Given the description of an element on the screen output the (x, y) to click on. 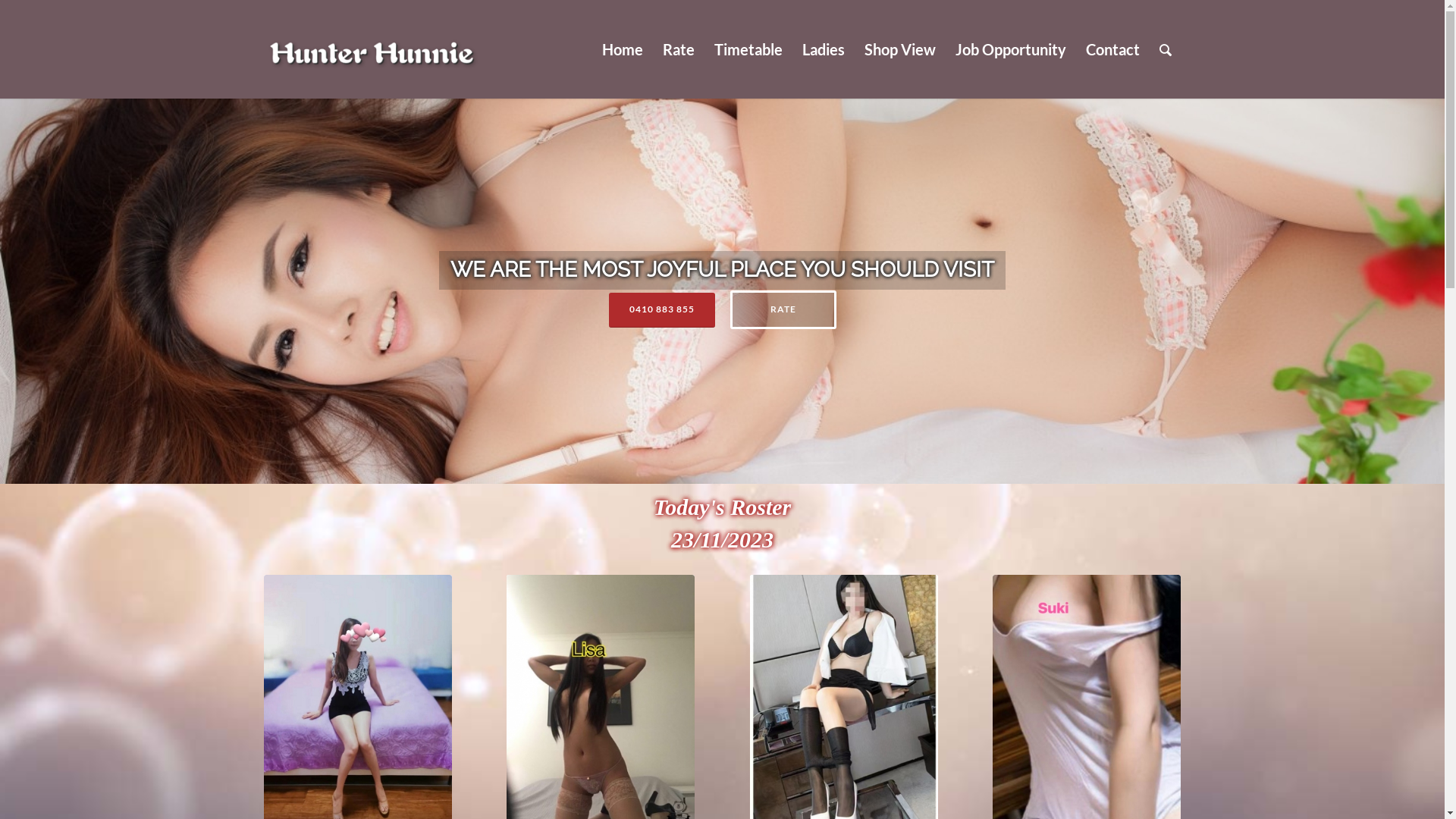
Home Element type: text (621, 49)
Timetable Element type: text (747, 49)
0410 883 855 Element type: text (661, 309)
RATE Element type: text (782, 309)
cropped-Hornsby-Brothel Element type: hover (722, 290)
Ladies Element type: text (822, 49)
Shop View Element type: text (898, 49)
Job Opportunity Element type: text (1009, 49)
Rate Element type: text (677, 49)
Contact Element type: text (1111, 49)
